Given the description of an element on the screen output the (x, y) to click on. 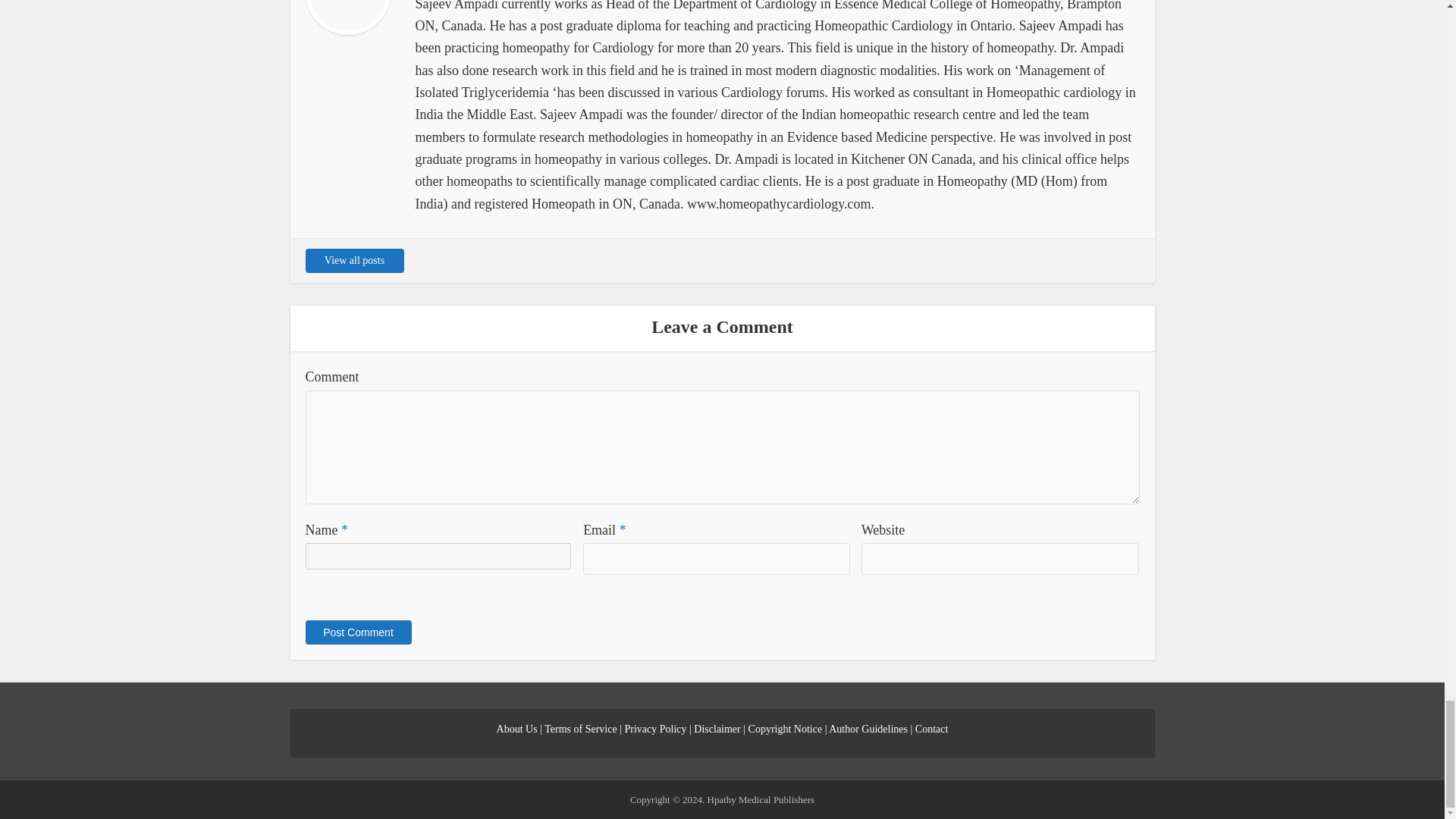
Post Comment (357, 631)
